Given the description of an element on the screen output the (x, y) to click on. 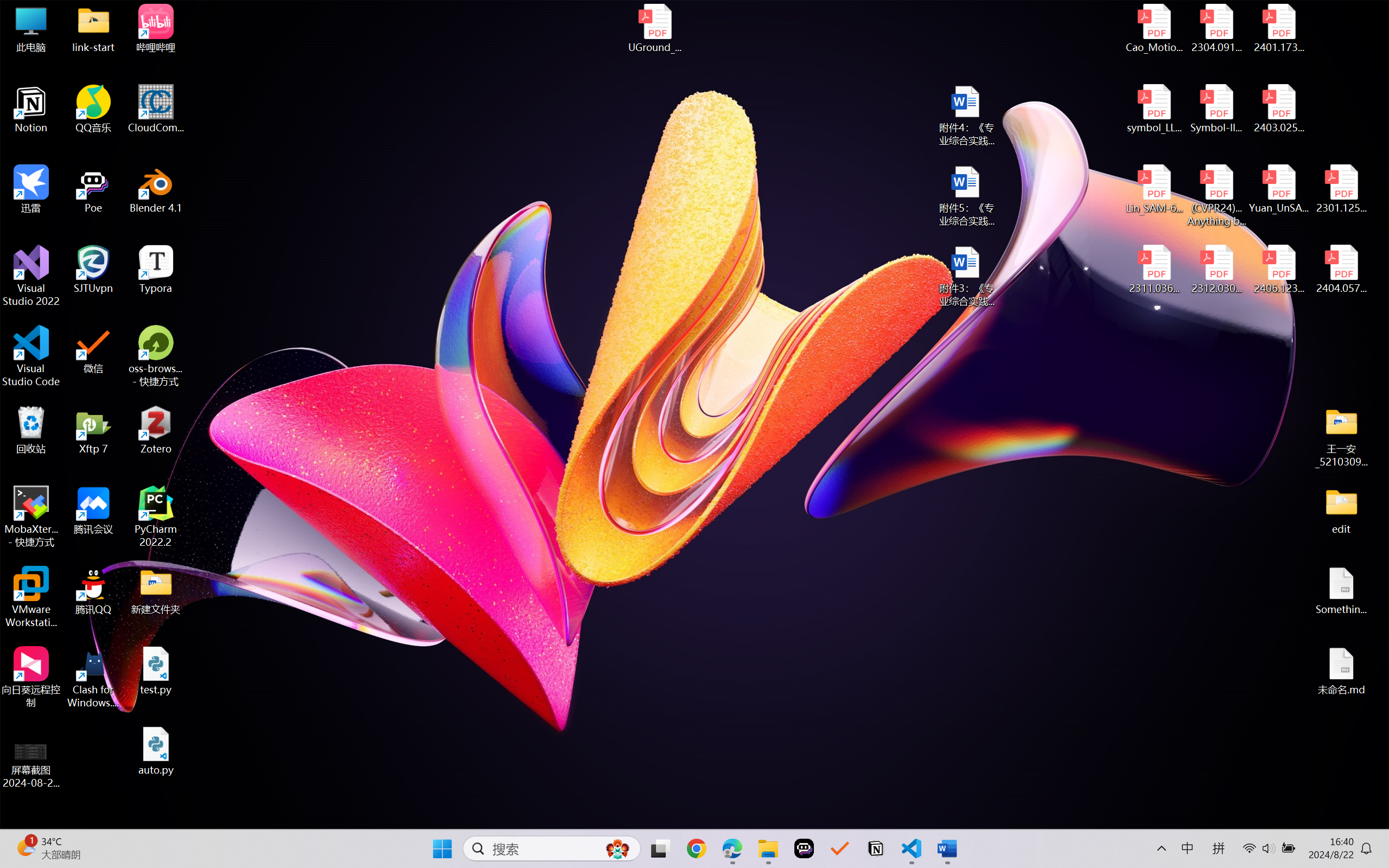
auto.py (156, 751)
VMware Workstation Pro (31, 597)
2406.12373v2.pdf (1278, 269)
